Given the description of an element on the screen output the (x, y) to click on. 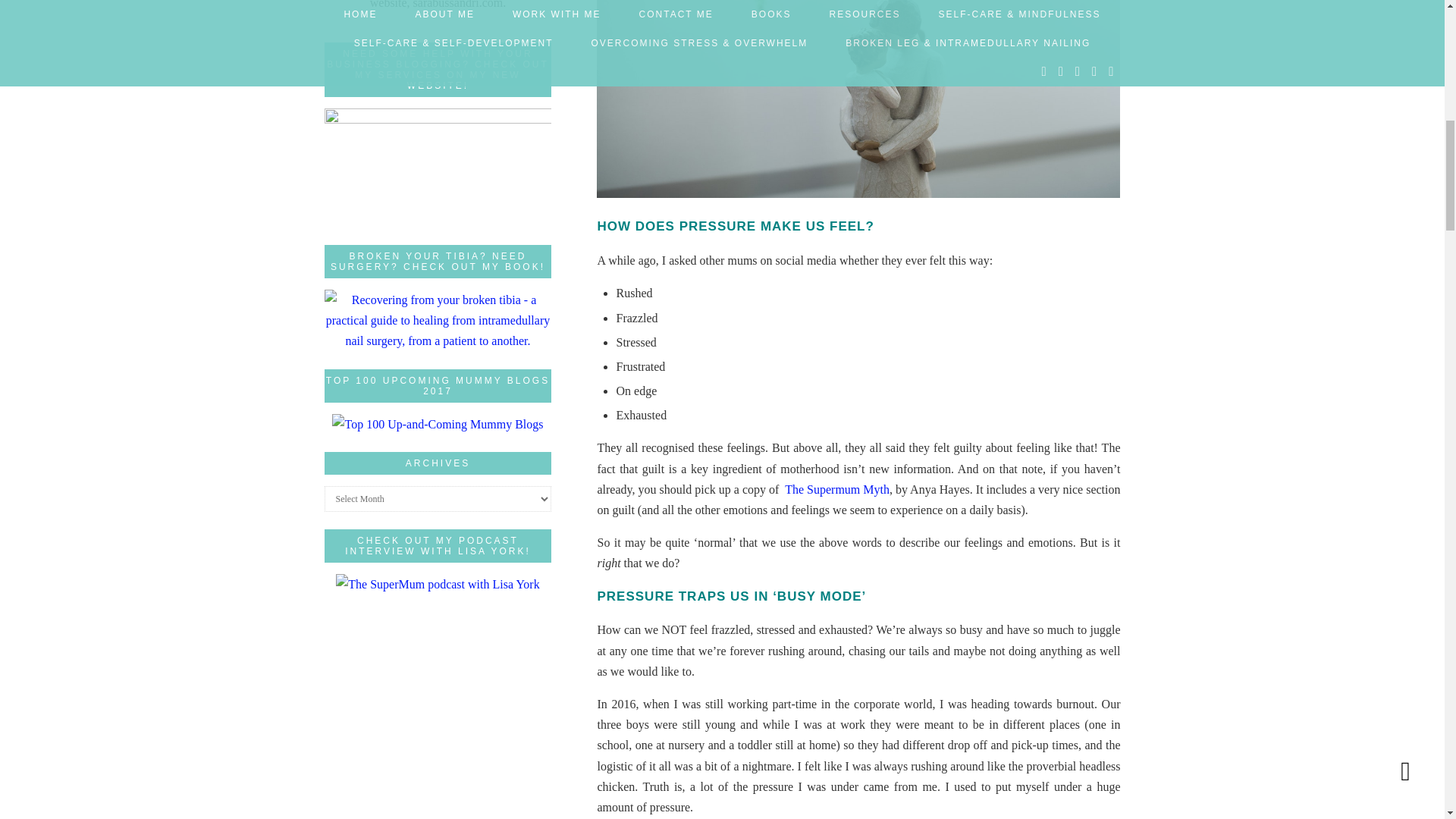
The Supermum Myth (836, 489)
Top 100 Up-and-Coming Mummy Blogs (437, 423)
